Given the description of an element on the screen output the (x, y) to click on. 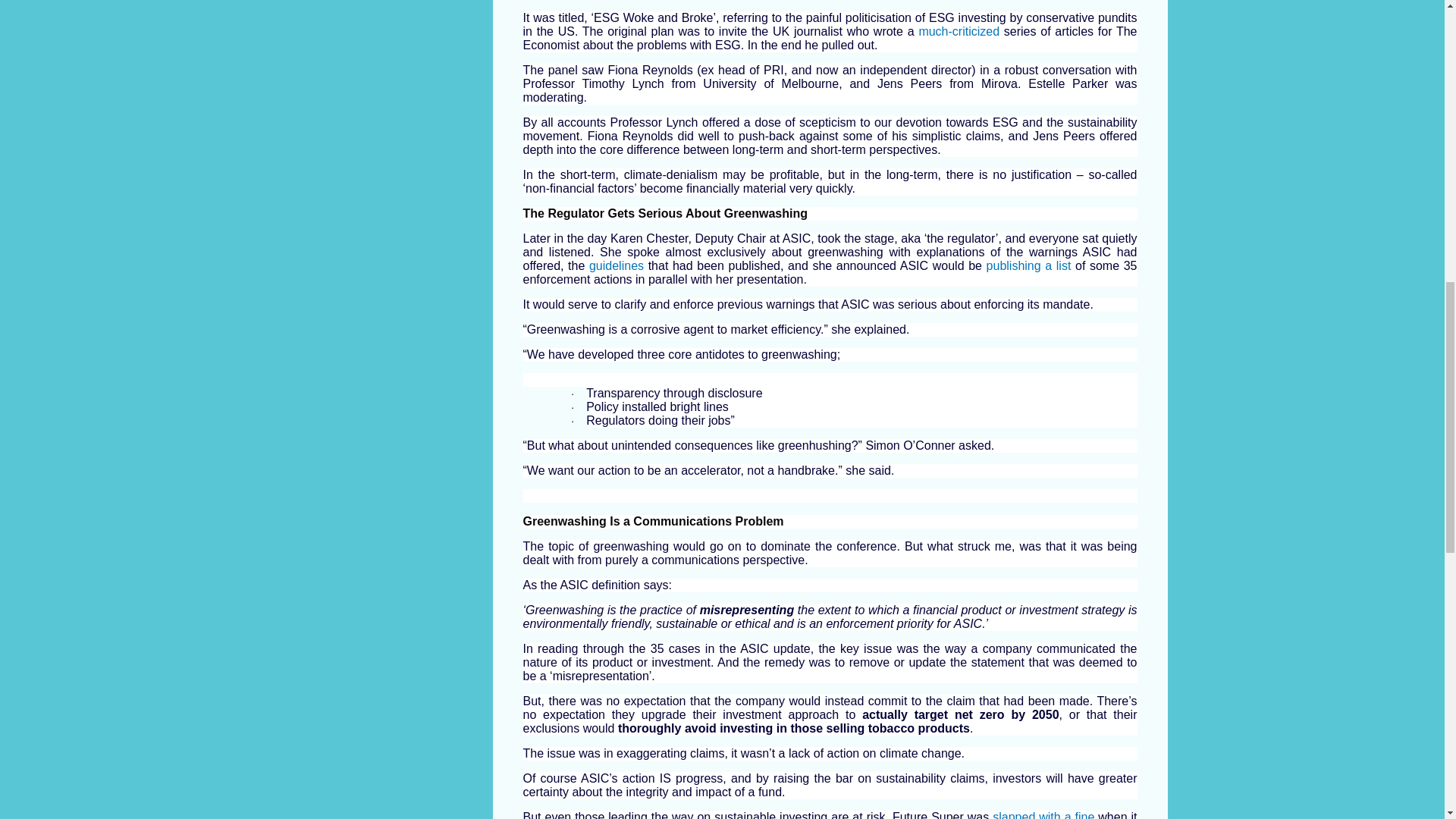
much-criticized (958, 30)
guidelines (616, 265)
slapped with a fine (1043, 814)
publishing a list (1029, 265)
